Given the description of an element on the screen output the (x, y) to click on. 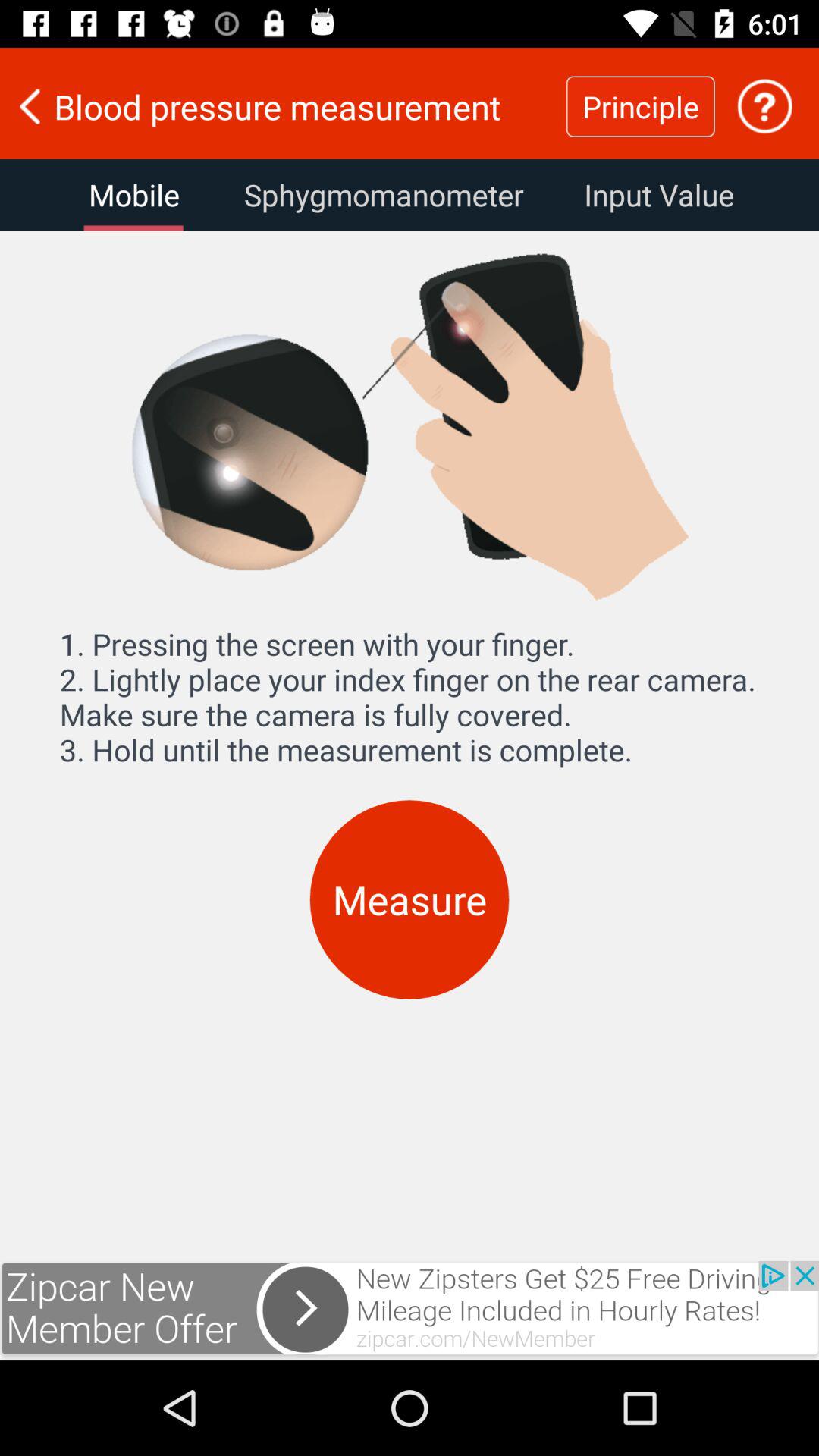
select to see zipcar new member offer (409, 1310)
